Given the description of an element on the screen output the (x, y) to click on. 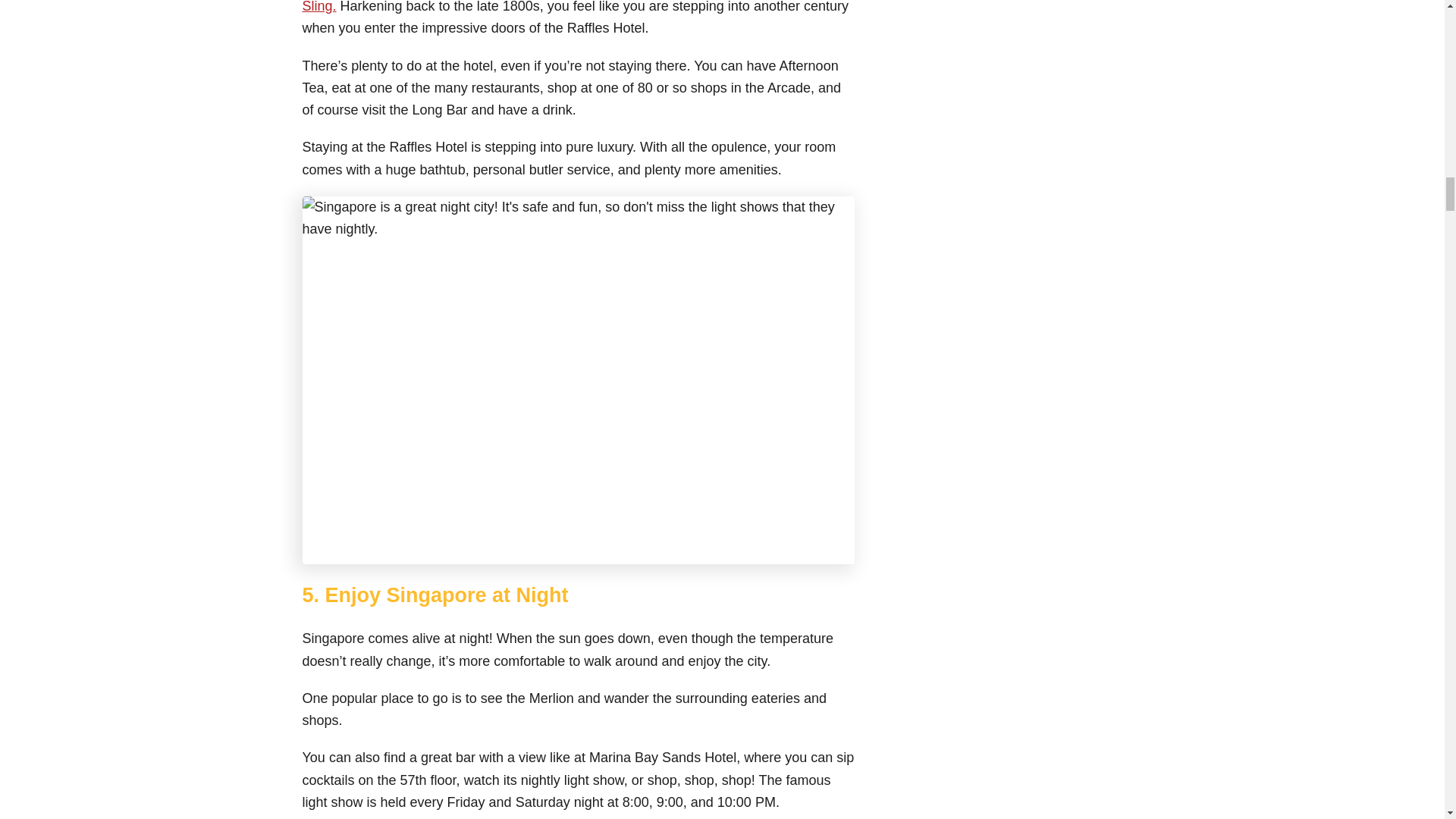
the Singapore Sling. (576, 6)
